Given the description of an element on the screen output the (x, y) to click on. 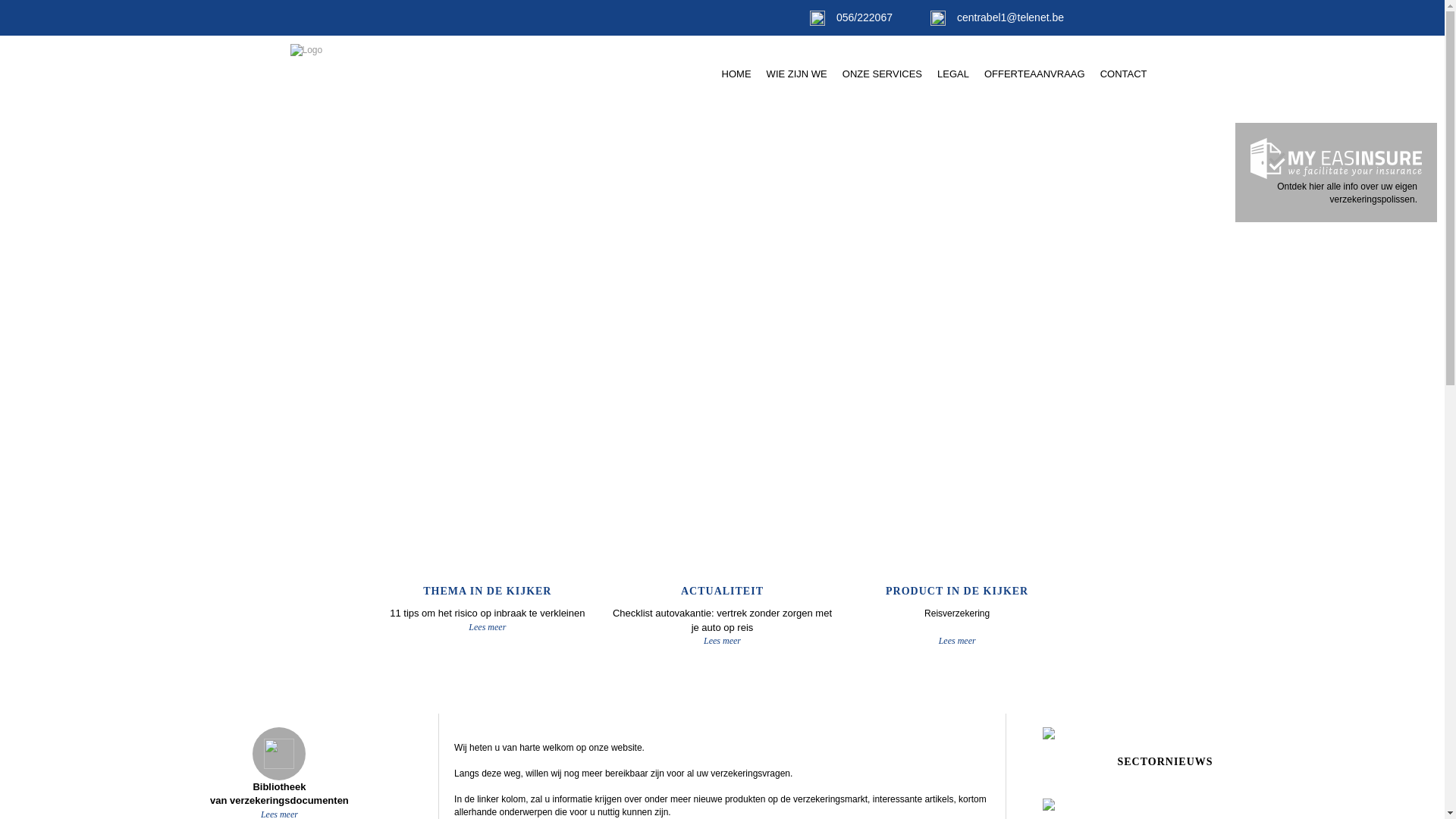
HOME Element type: text (736, 74)
Ontdek hier alle info over uw eigen verzekeringspolissen. Element type: text (1335, 172)
PRODUCT IN DE KIJKER
Reisverzekering Element type: text (956, 544)
ONZE SERVICES Element type: text (881, 74)
Lees meer Element type: text (722, 644)
Lees meer Element type: text (956, 644)
SECTORNIEUWS Element type: text (1164, 752)
centrabel1@telenet.be Element type: text (996, 17)
Bibliotheek
van verzekeringsdocumenten Element type: text (278, 767)
Lees meer Element type: text (487, 631)
WIE ZIJN WE Element type: text (796, 74)
OFFERTEAANVRAAG Element type: text (1034, 74)
LEGAL Element type: text (952, 74)
CONTACT Element type: text (1123, 74)
